Given the description of an element on the screen output the (x, y) to click on. 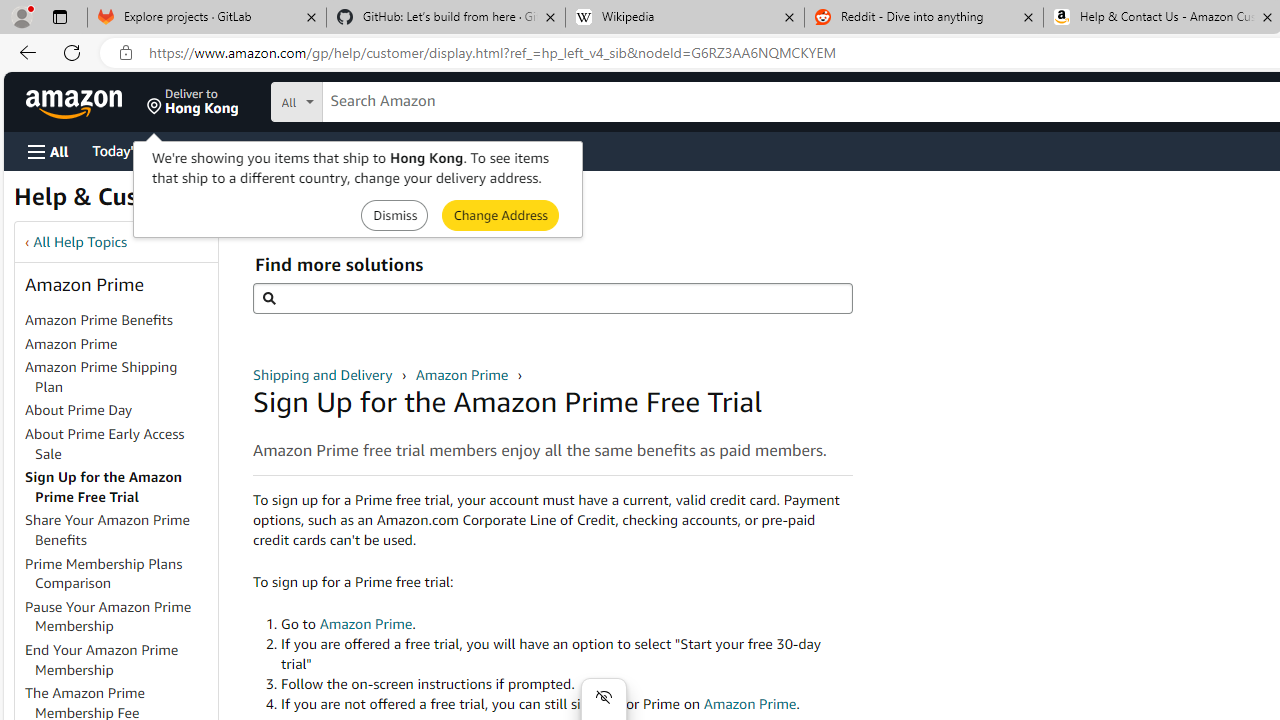
Amazon Prime Benefits (120, 321)
Submit (499, 214)
Amazon Prime (71, 343)
